Given the description of an element on the screen output the (x, y) to click on. 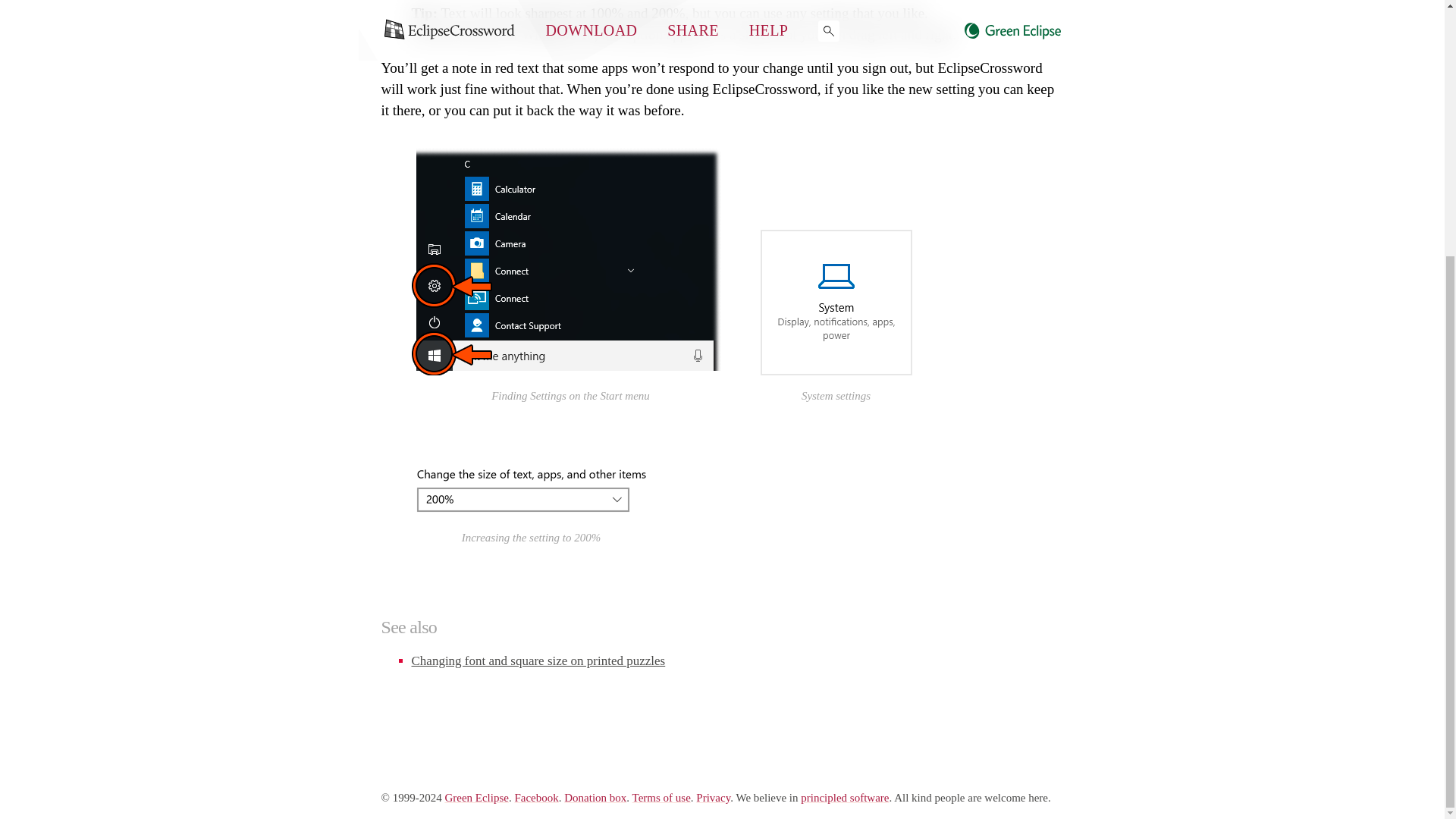
Facebook (535, 797)
principled software (844, 797)
Privacy (712, 797)
Donation box (595, 797)
Green Eclipse (476, 797)
Terms of use (660, 797)
Changing font and square size on printed puzzles (537, 660)
